Given the description of an element on the screen output the (x, y) to click on. 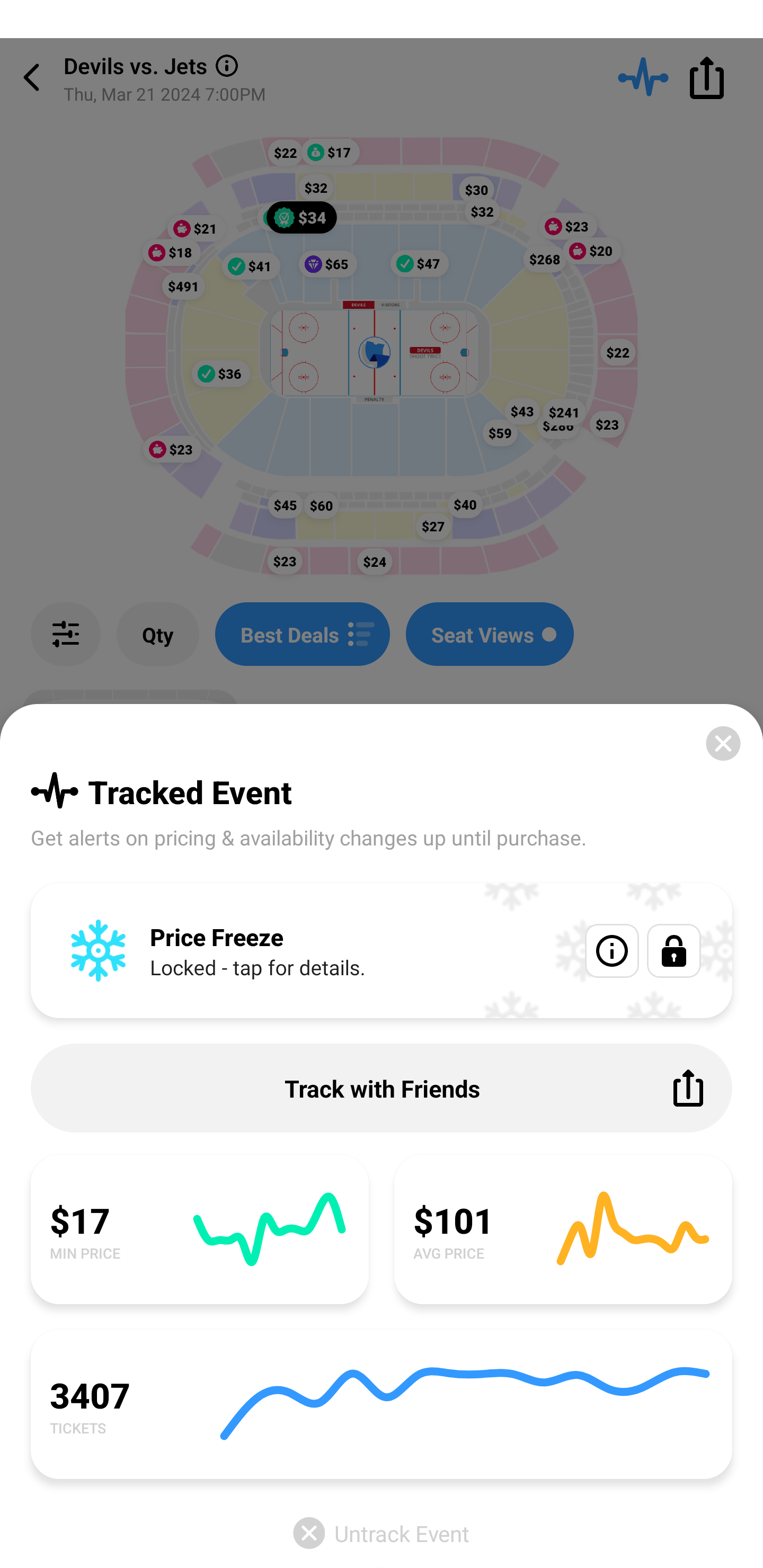
Track with Friends (381, 1088)
Untrack Event (381, 1533)
